Given the description of an element on the screen output the (x, y) to click on. 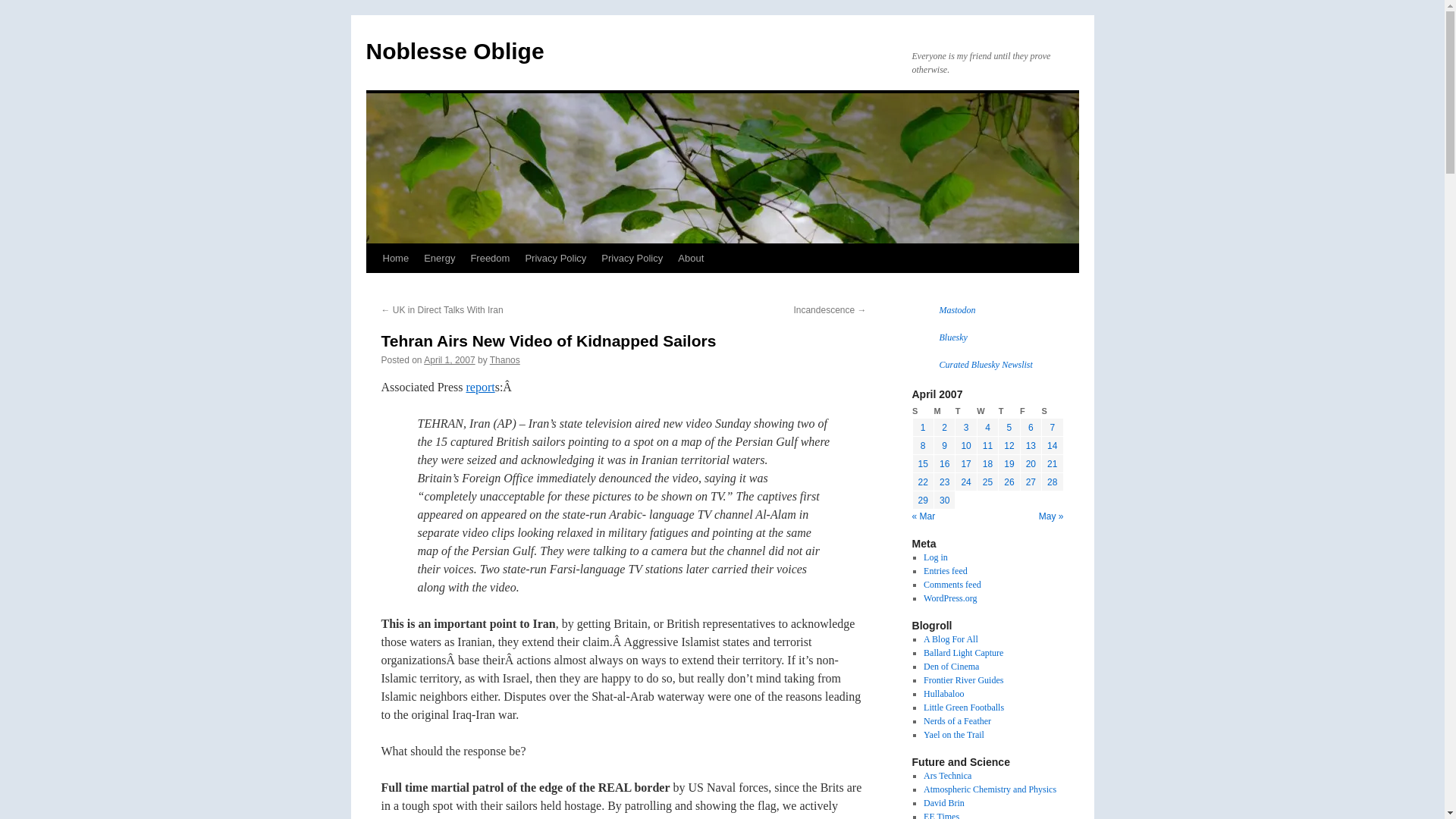
About (690, 258)
Freedom (489, 258)
Sunday (922, 411)
Privacy Policy (555, 258)
Monday (944, 411)
Mastodon (957, 309)
Privacy Policy (631, 258)
April 1, 2007 (448, 359)
View all posts by Thanos (504, 359)
4:50 pm (448, 359)
